Given the description of an element on the screen output the (x, y) to click on. 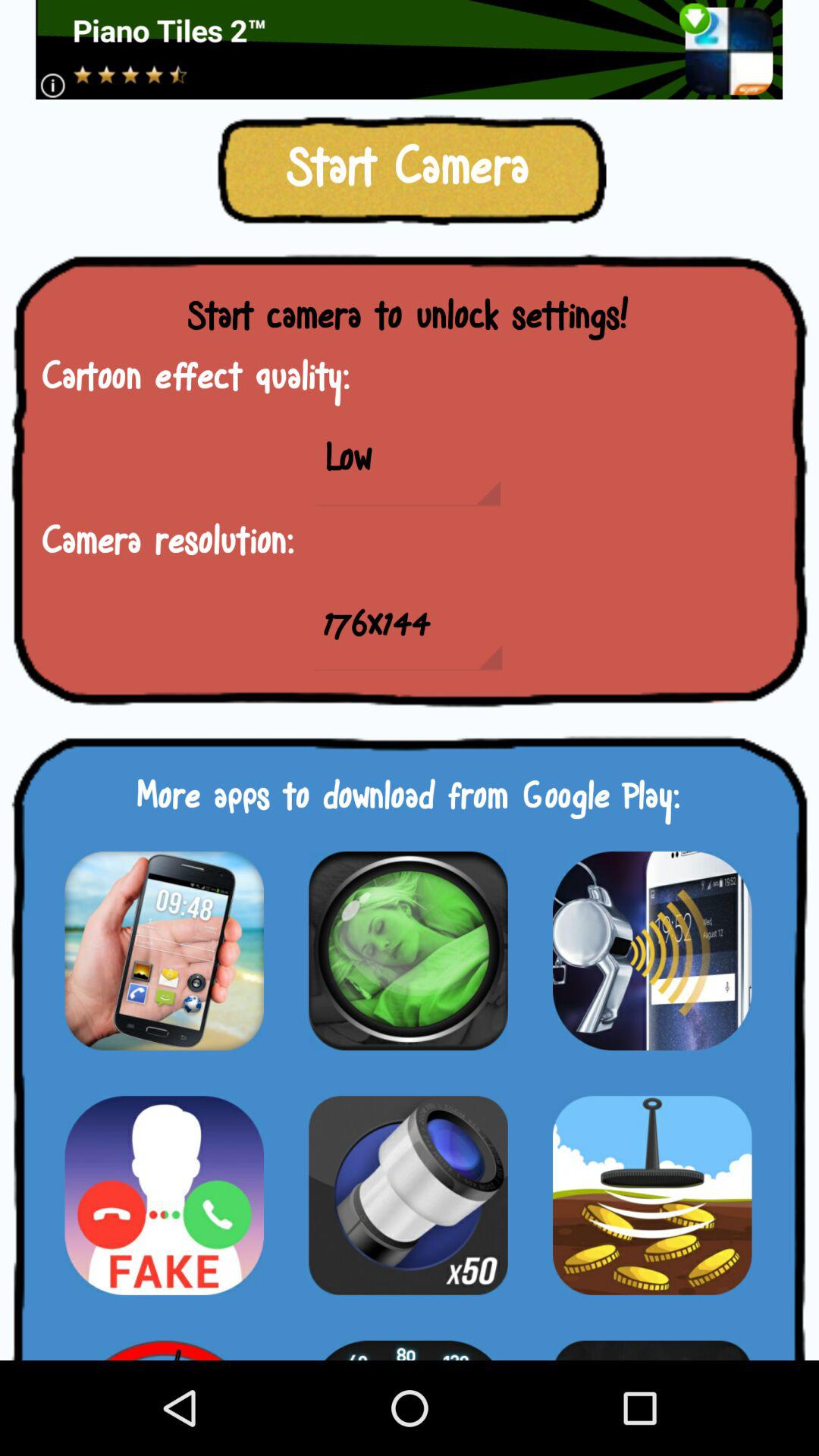
go to camera (408, 1195)
